Given the description of an element on the screen output the (x, y) to click on. 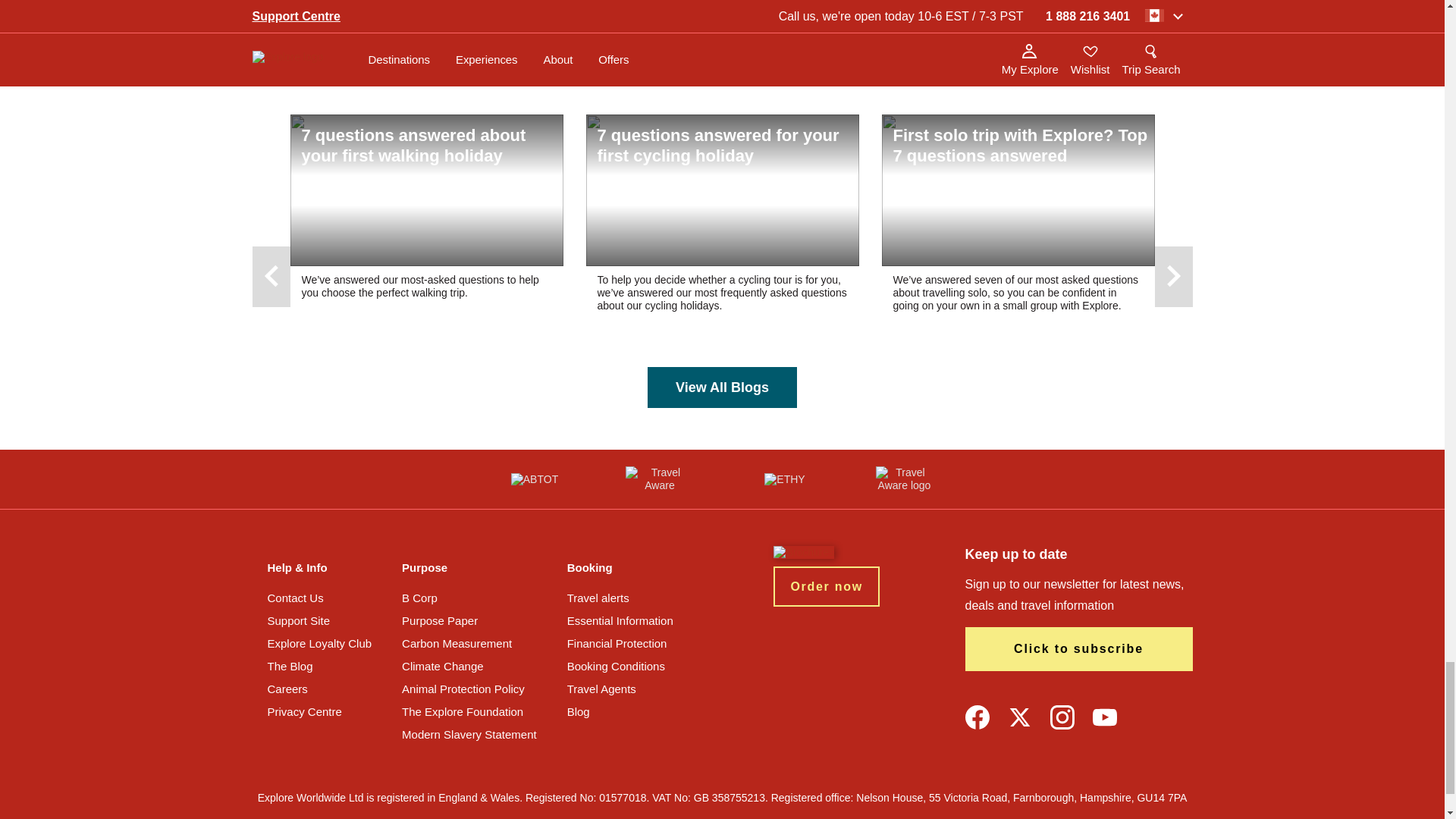
Instagram (1061, 717)
Twitter (1018, 717)
Facebook (975, 717)
YouTube (1104, 717)
